Given the description of an element on the screen output the (x, y) to click on. 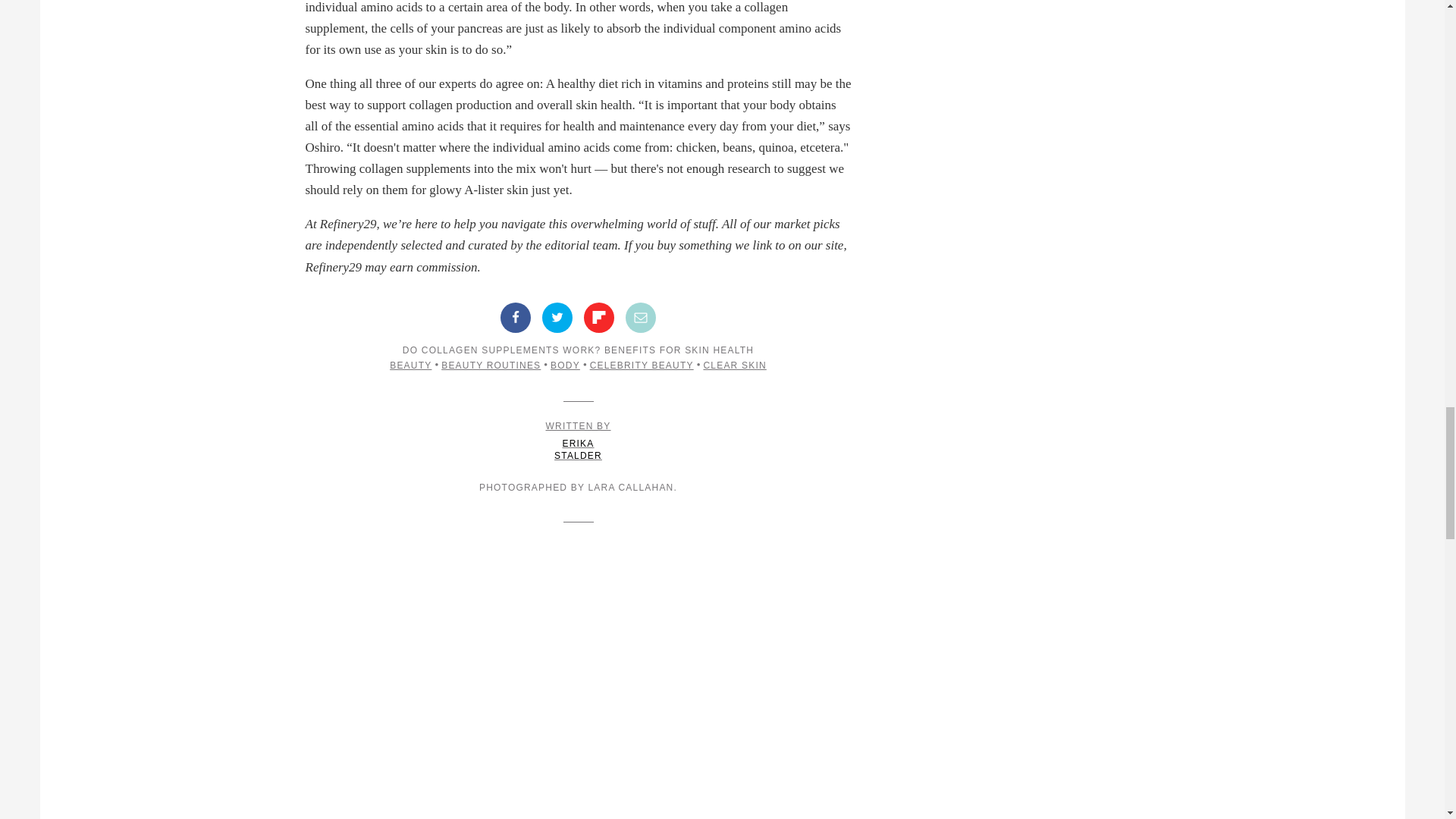
Share on Twitter (556, 317)
Share by Email (641, 317)
Share on Flipboard (598, 317)
